Given the description of an element on the screen output the (x, y) to click on. 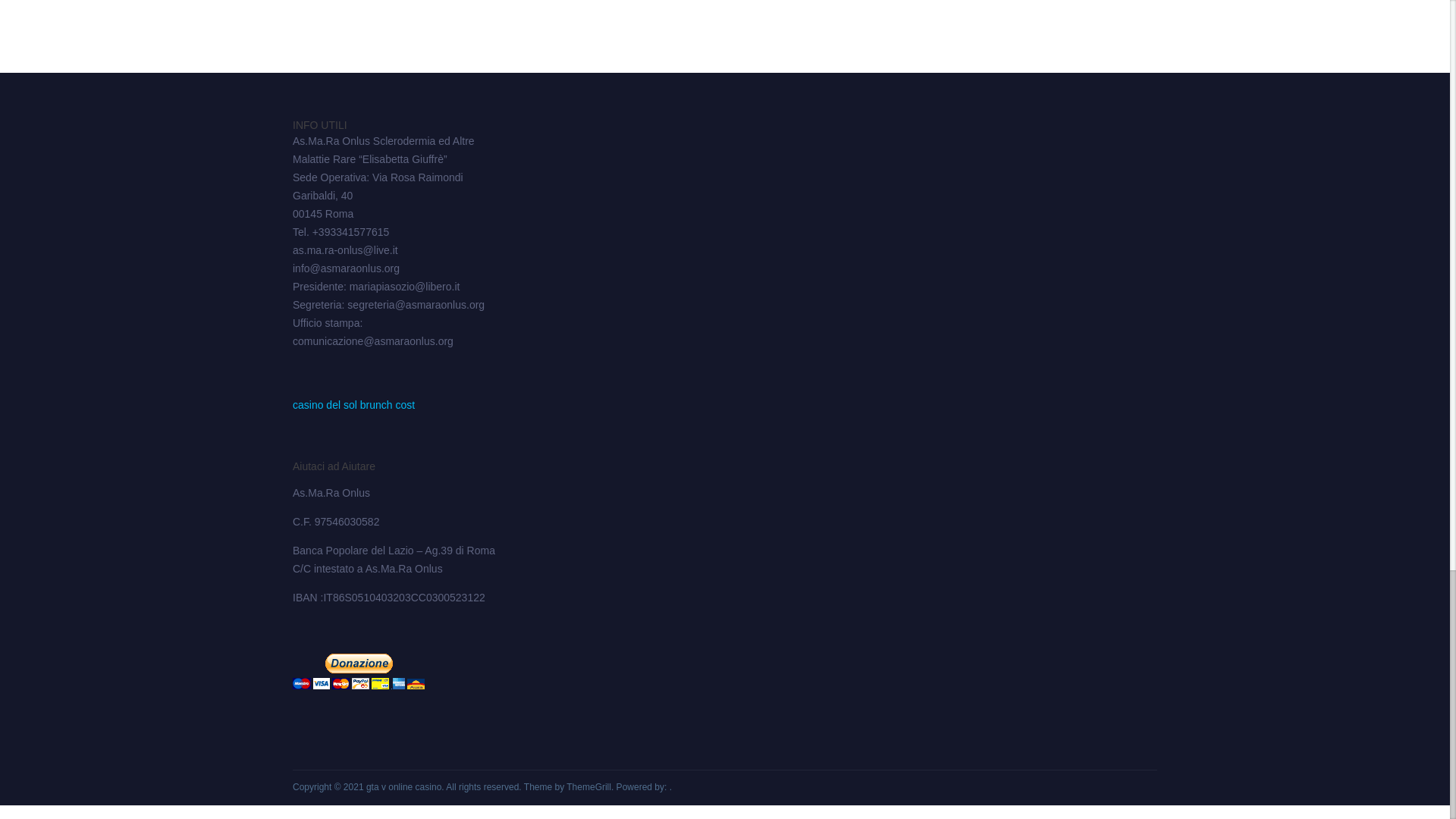
PayPal - The safer, easier way to pay online! (358, 671)
